Given the description of an element on the screen output the (x, y) to click on. 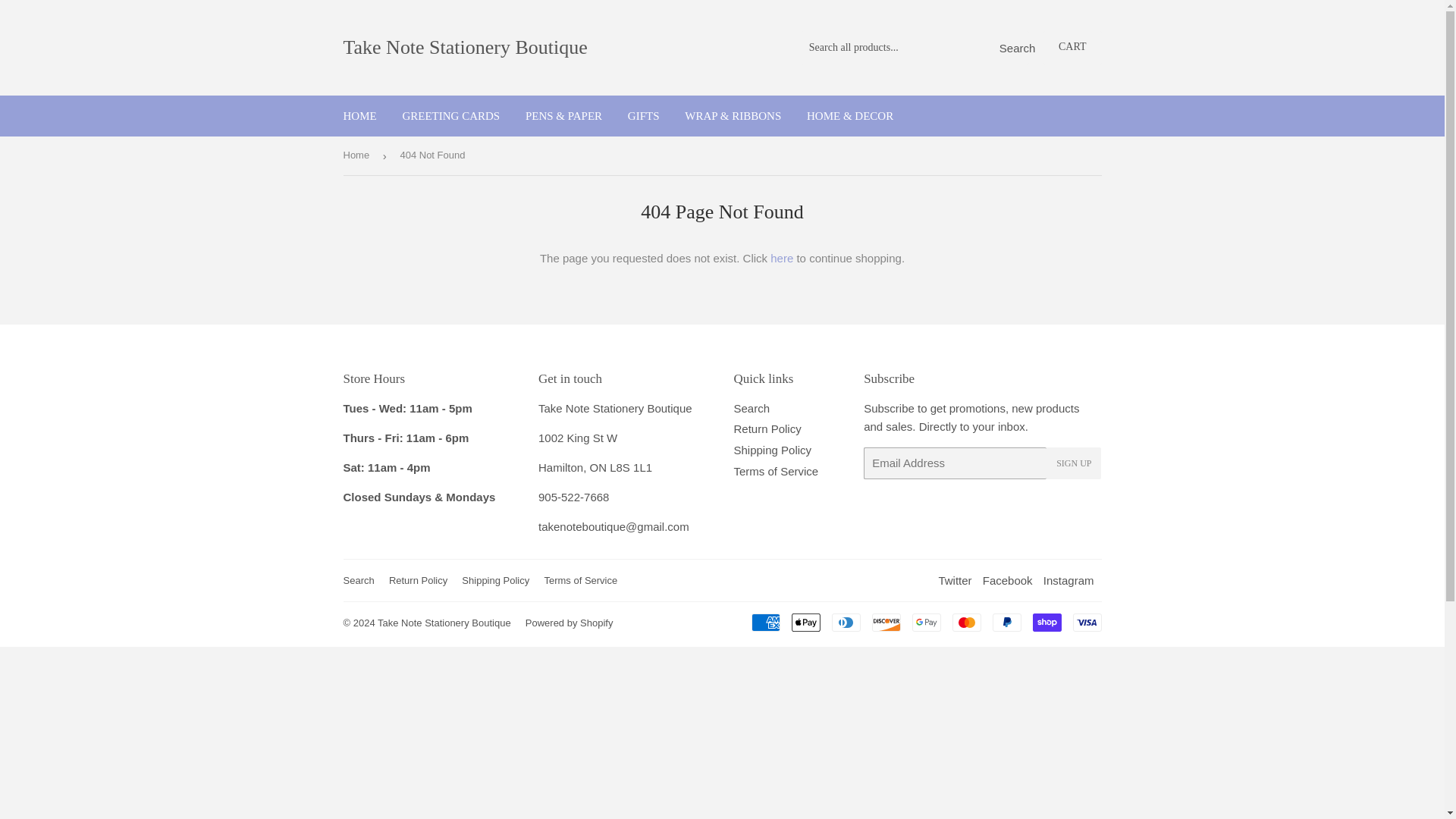
Google Pay (925, 622)
CART (1072, 47)
Take Note Stationery Boutique on Twitter (954, 580)
Visa (1085, 622)
PayPal (1005, 622)
Discover (886, 622)
Take Note Stationery Boutique on Facebook (1007, 580)
Take Note Stationery Boutique on Instagram (1068, 580)
Shop Pay (1046, 622)
Search (1011, 48)
